Given the description of an element on the screen output the (x, y) to click on. 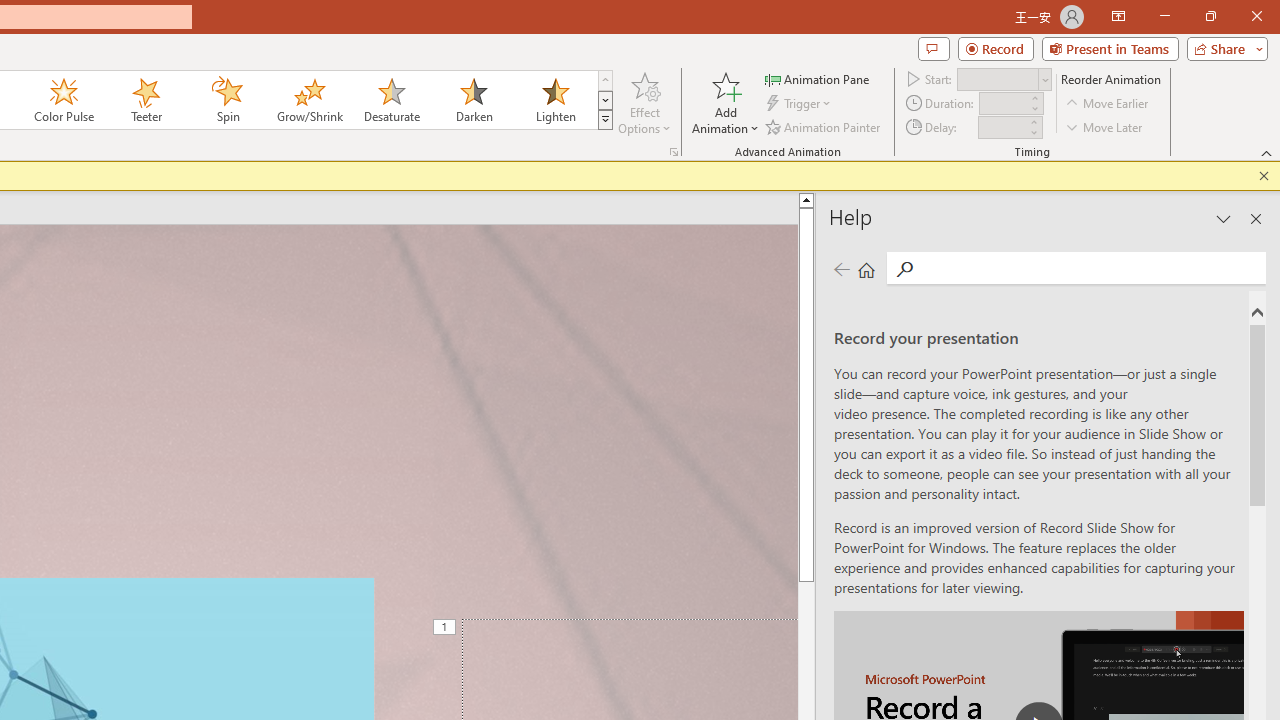
Color Pulse (63, 100)
Effect Options (644, 102)
Less (1033, 132)
Desaturate (391, 100)
Animation Styles (605, 120)
Grow/Shrink (309, 100)
